Given the description of an element on the screen output the (x, y) to click on. 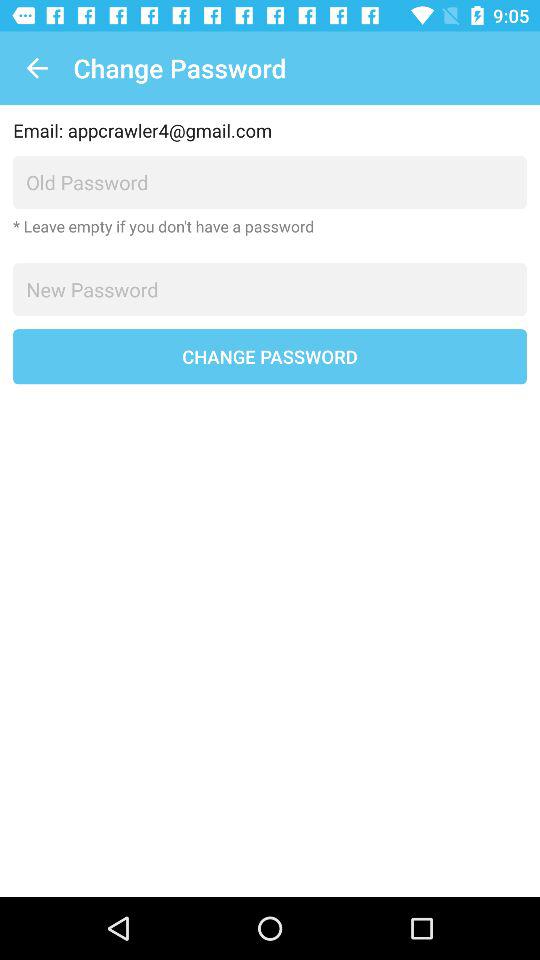
login password change (269, 289)
